Given the description of an element on the screen output the (x, y) to click on. 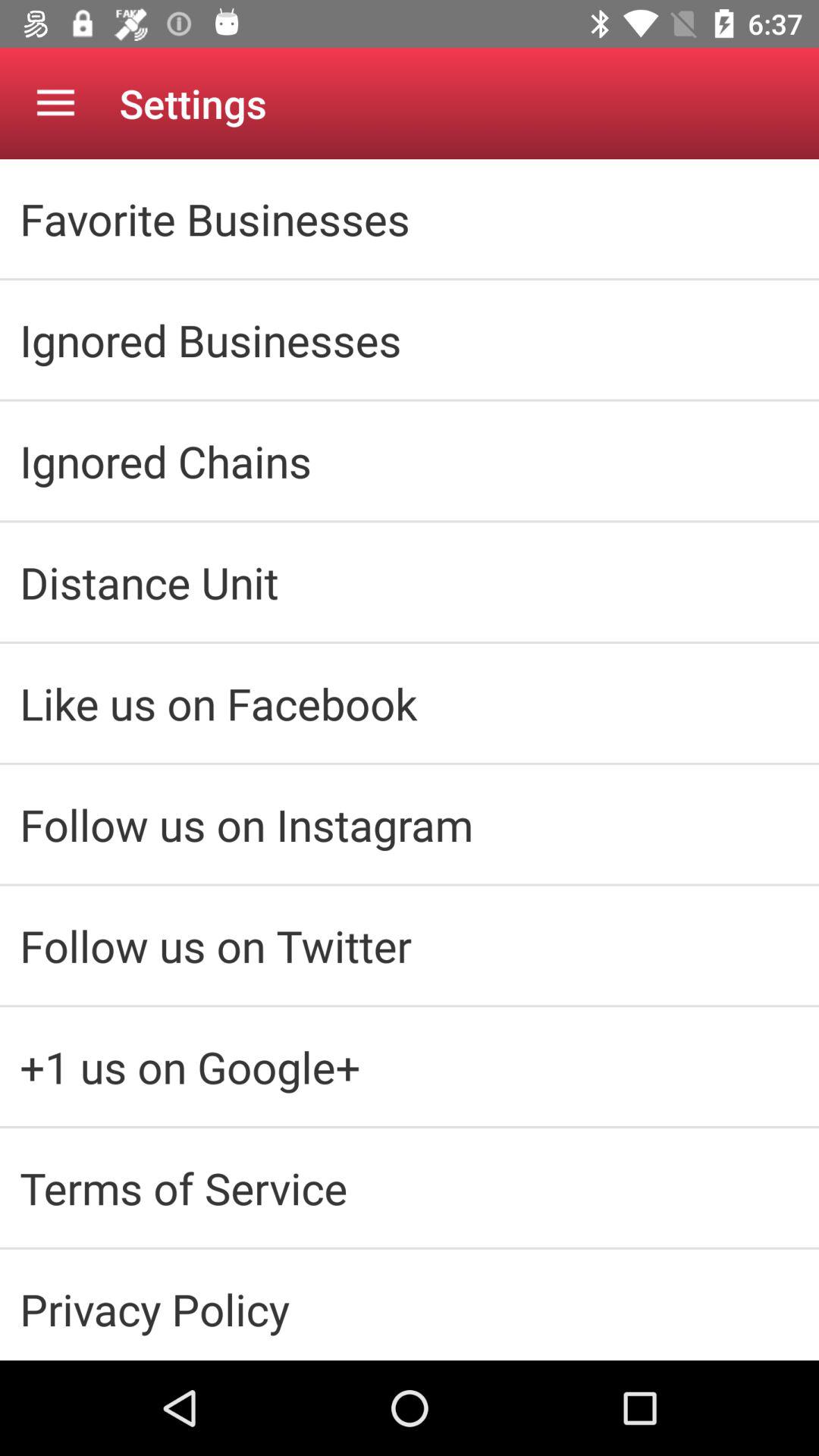
choose the icon below the favorite businesses (409, 339)
